Given the description of an element on the screen output the (x, y) to click on. 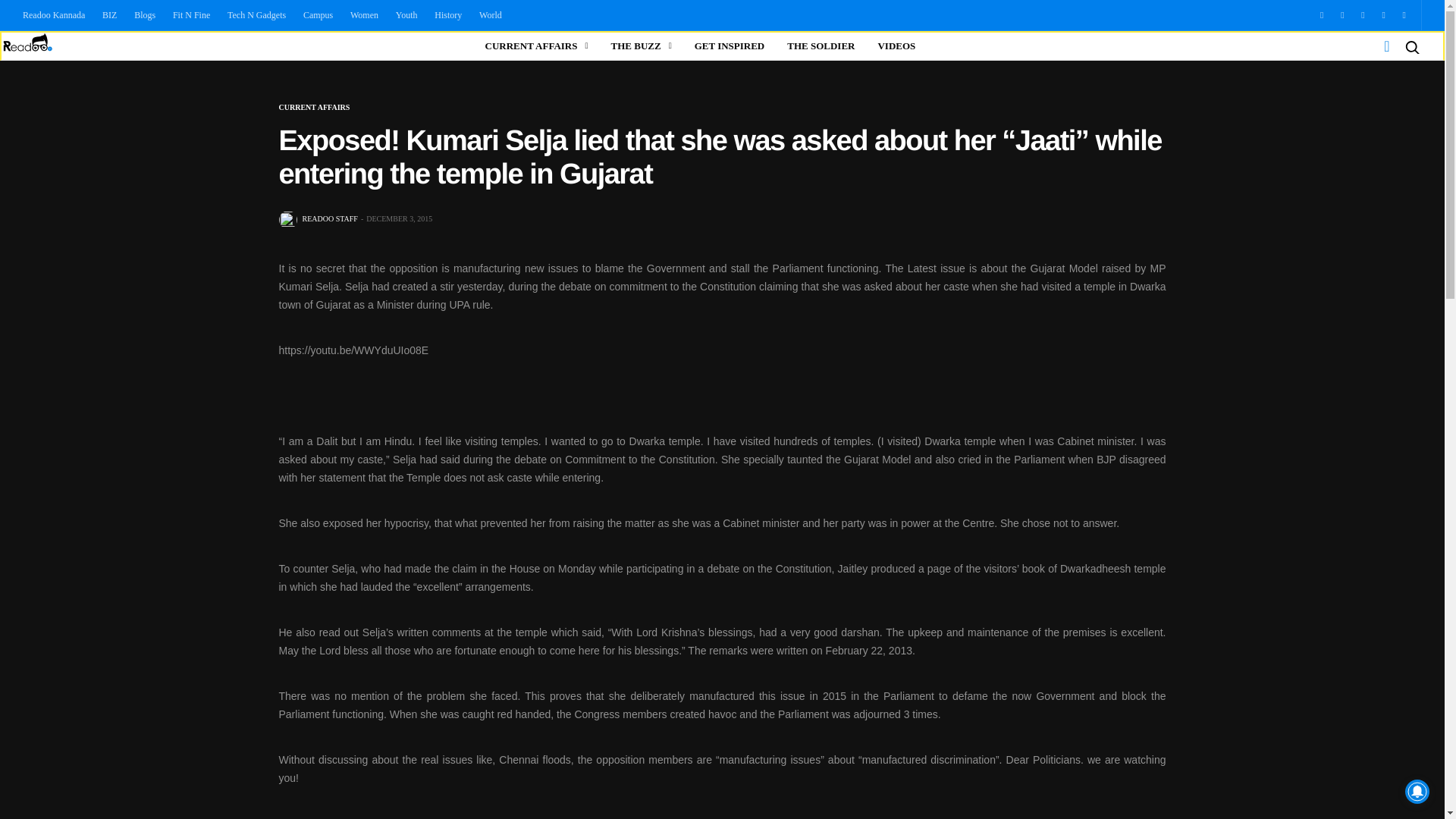
Readoo Kannada (58, 15)
Fit N Fine (190, 15)
BIZ (108, 15)
Blogs (144, 15)
Current Affairs (314, 107)
Women (363, 15)
Posts by Readoo Staff (328, 218)
Campus (317, 15)
Secondary Menu (1378, 46)
Youth (406, 15)
